Given the description of an element on the screen output the (x, y) to click on. 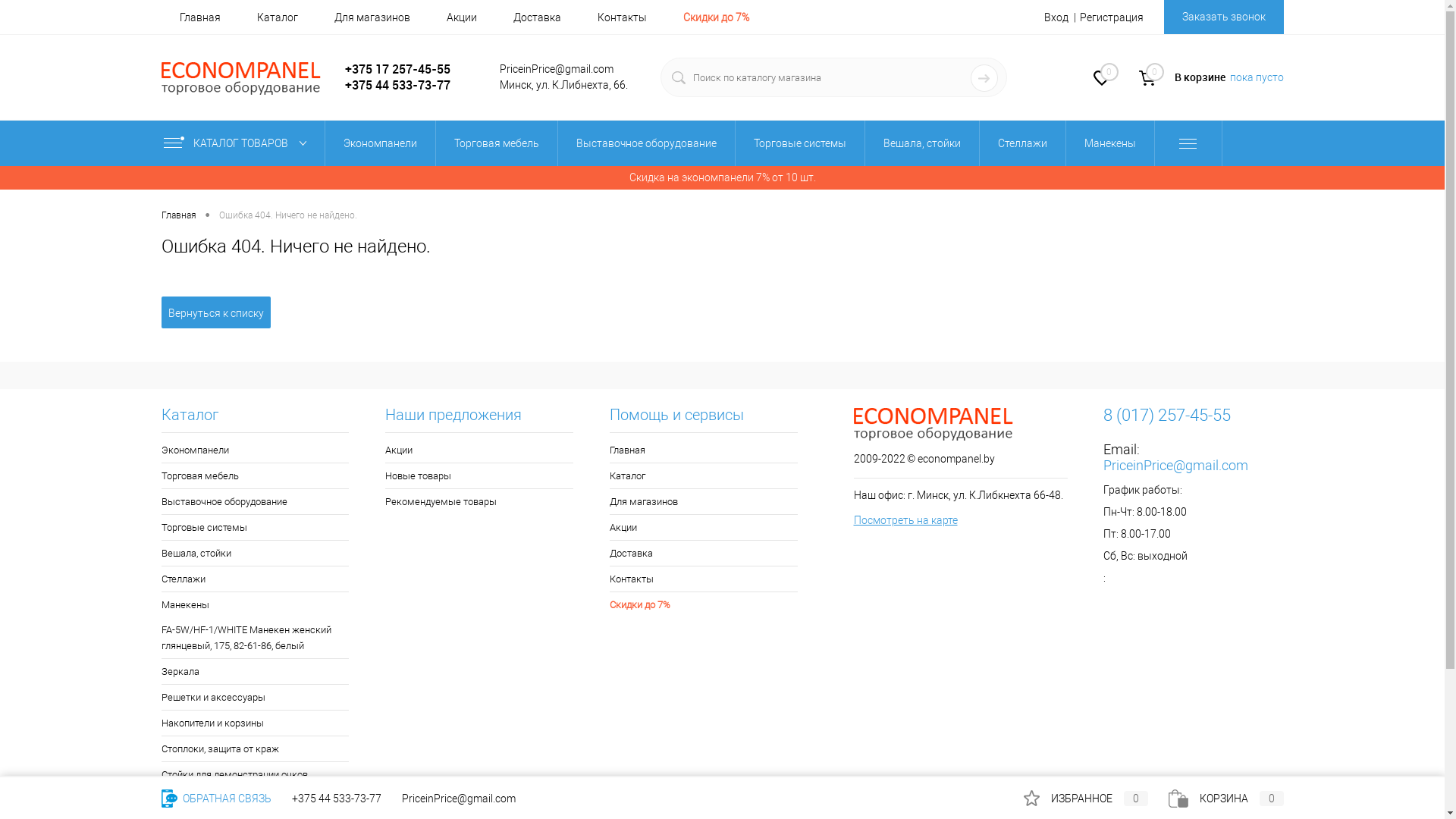
+375 44 533-73-77 Element type: text (335, 798)
PriceinPrice@gmail.com Element type: text (1175, 465)
0 Element type: text (1146, 77)
PriceinPrice@gmail.com Element type: text (458, 798)
0 Element type: text (1100, 79)
